Given the description of an element on the screen output the (x, y) to click on. 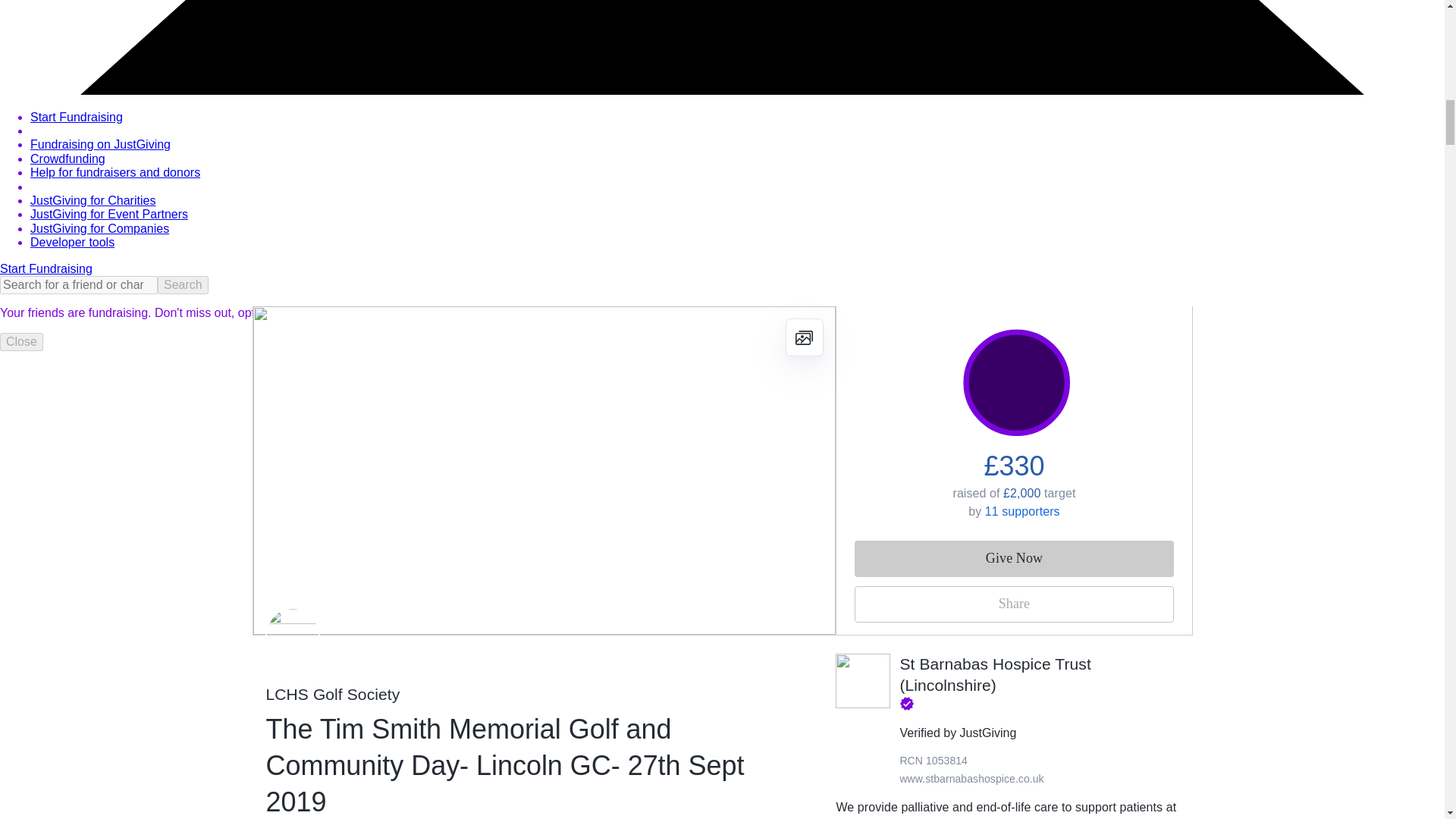
JustGiving for Event Partners (108, 214)
JustGiving for Companies (99, 228)
opt in. (252, 312)
11 supporters (1022, 511)
Share (1013, 604)
www.stbarnabashospice.co.uk (971, 778)
Start Fundraising (46, 268)
Search (182, 285)
Fundraising on JustGiving (100, 144)
Help for fundraisers and donors (115, 172)
